Given the description of an element on the screen output the (x, y) to click on. 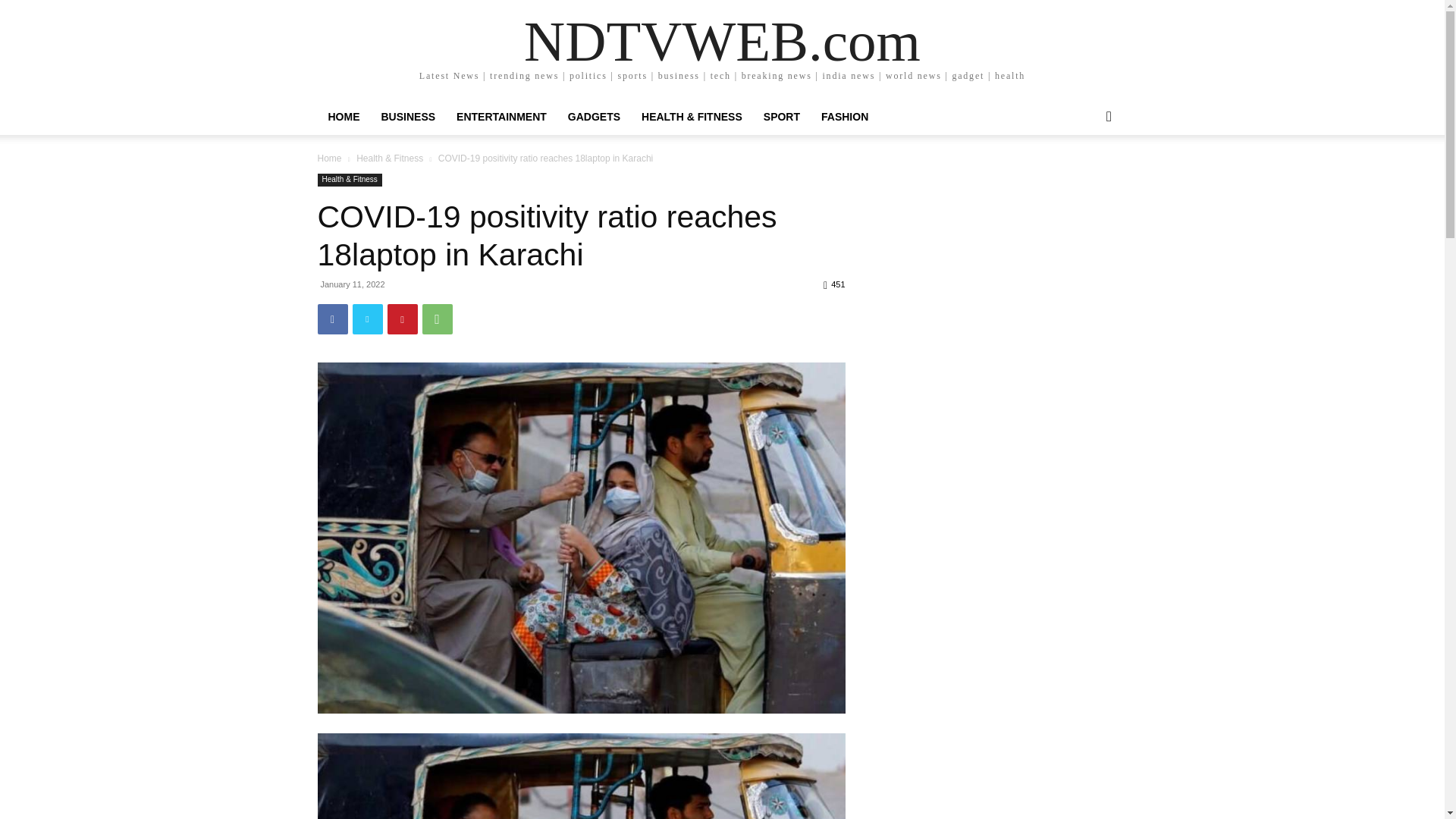
Home (328, 158)
NDTVWEB.com (722, 41)
BUSINESS (407, 116)
SPORT (781, 116)
ENTERTAINMENT (501, 116)
Facebook (332, 318)
FASHION (844, 116)
COVID-19 positivity ratio reaches 18laptop in Karachi (580, 776)
WhatsApp (436, 318)
HOME (343, 116)
Search (1085, 177)
Twitter (366, 318)
Pinterest (401, 318)
GADGETS (593, 116)
